Given the description of an element on the screen output the (x, y) to click on. 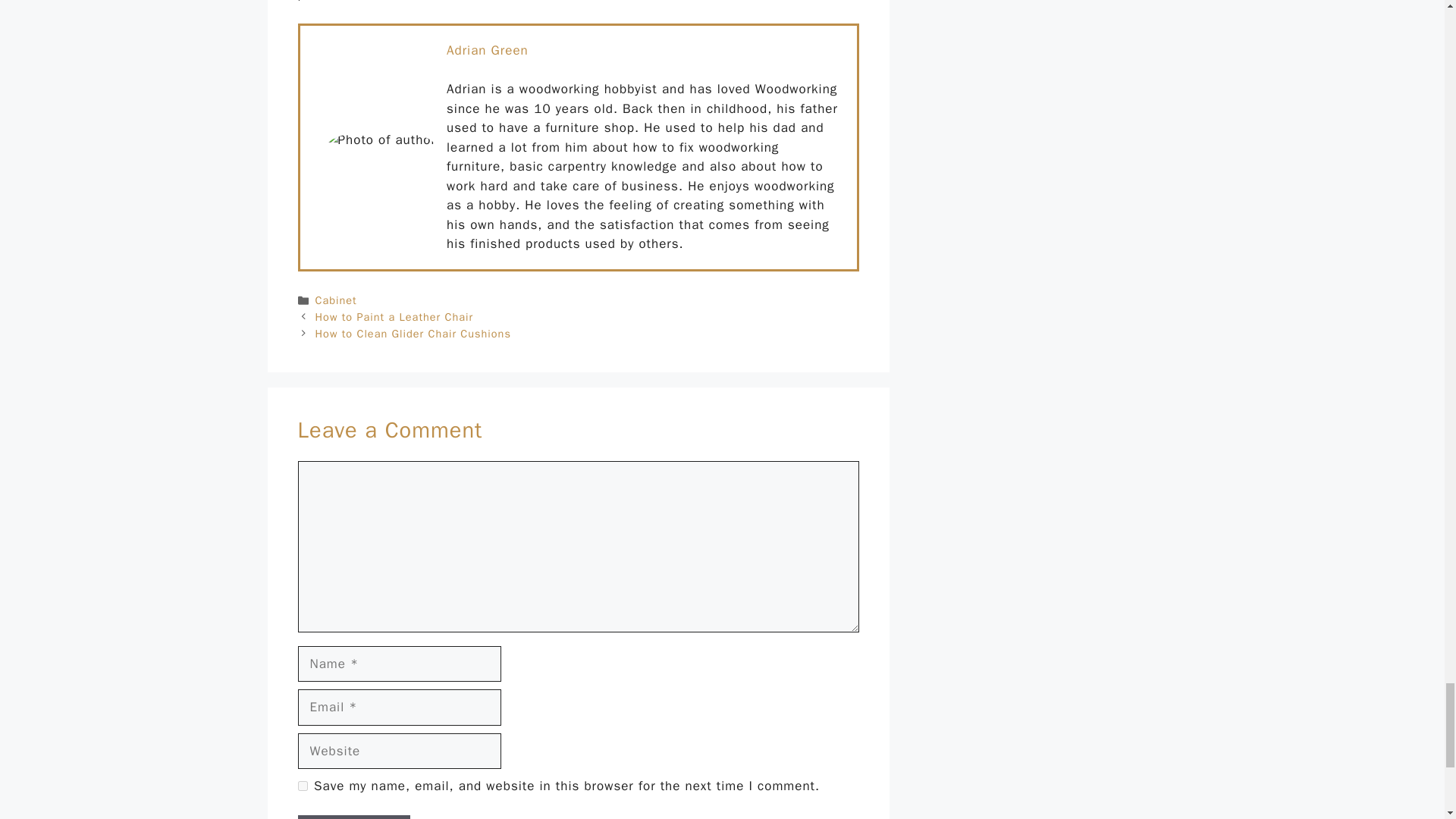
Post Comment (353, 816)
Post Comment (353, 816)
How to Paint a Leather Chair (394, 316)
How to Clean Glider Chair Cushions (413, 333)
Cabinet (335, 300)
Adrian Green (487, 50)
yes (302, 786)
